Given the description of an element on the screen output the (x, y) to click on. 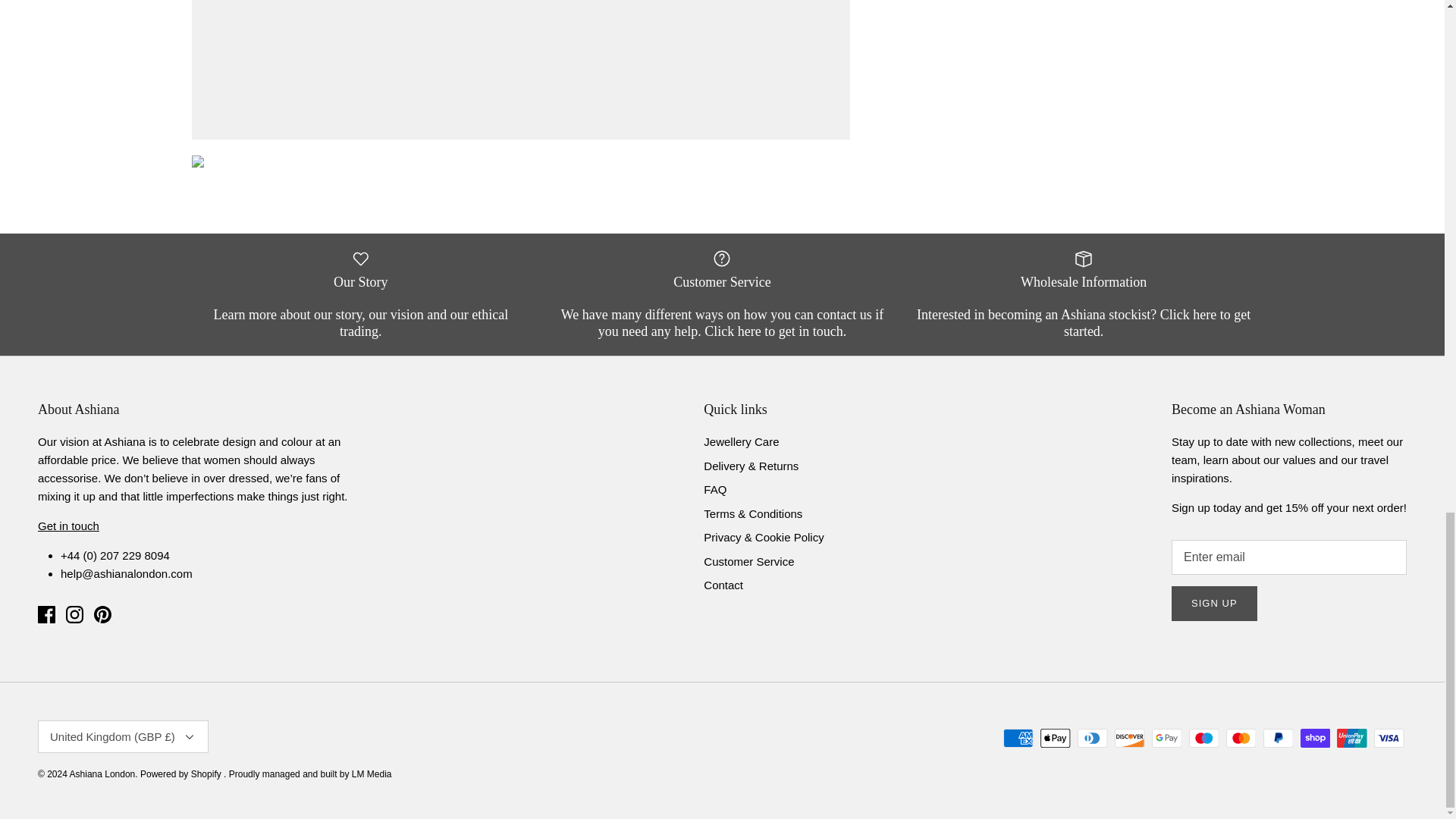
Instagram (73, 614)
American Express (1018, 737)
Apple Pay (1055, 737)
Pinterest (103, 614)
Facebook (46, 614)
